Given the description of an element on the screen output the (x, y) to click on. 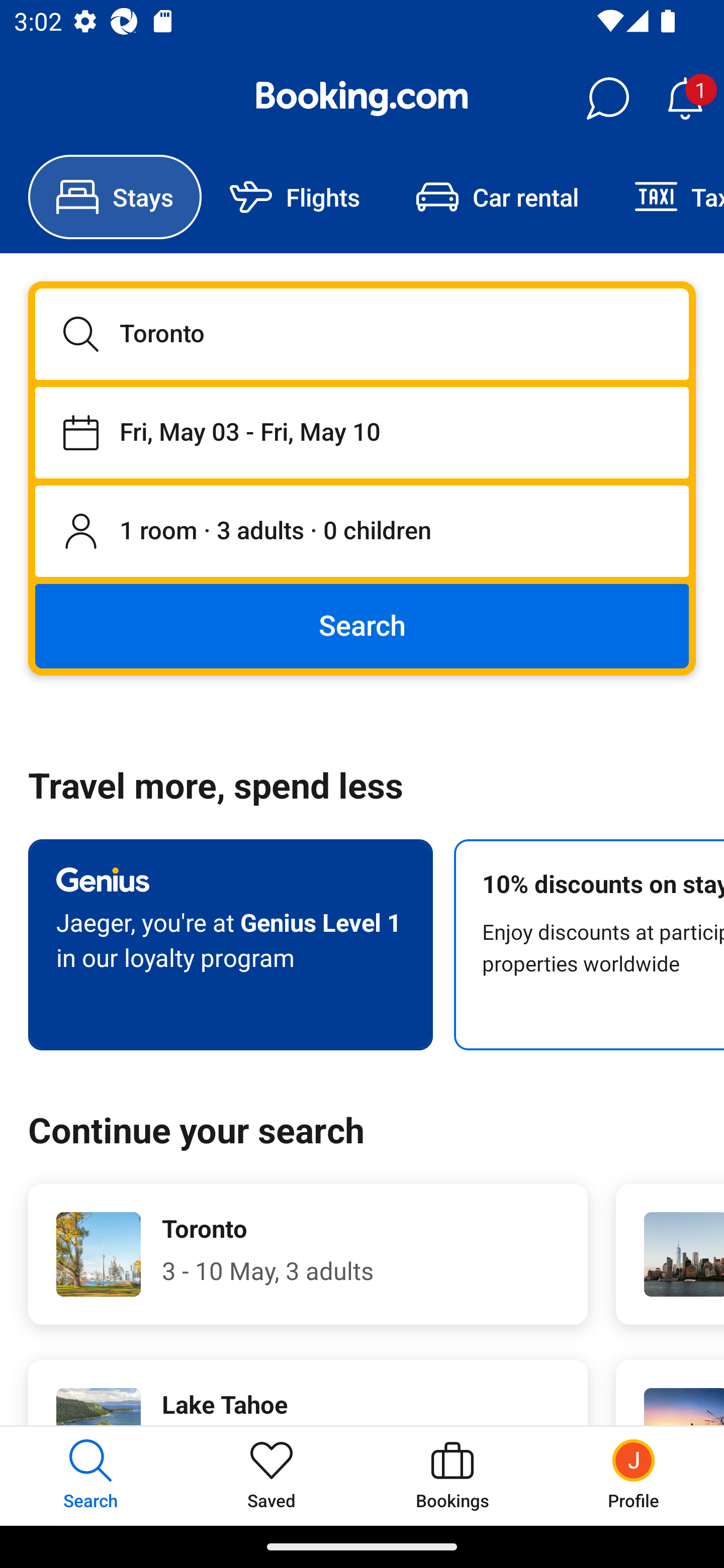
Messages (607, 98)
Notifications (685, 98)
Stays (114, 197)
Flights (294, 197)
Car rental (497, 197)
Taxi (665, 197)
Toronto (361, 333)
Staying from Fri, May 03 until Fri, May 10 (361, 432)
1 room, 3 adults, 0 children (361, 531)
Search (361, 625)
Toronto 3 - 10 May, 3 adults (307, 1253)
Saved (271, 1475)
Bookings (452, 1475)
Profile (633, 1475)
